Given the description of an element on the screen output the (x, y) to click on. 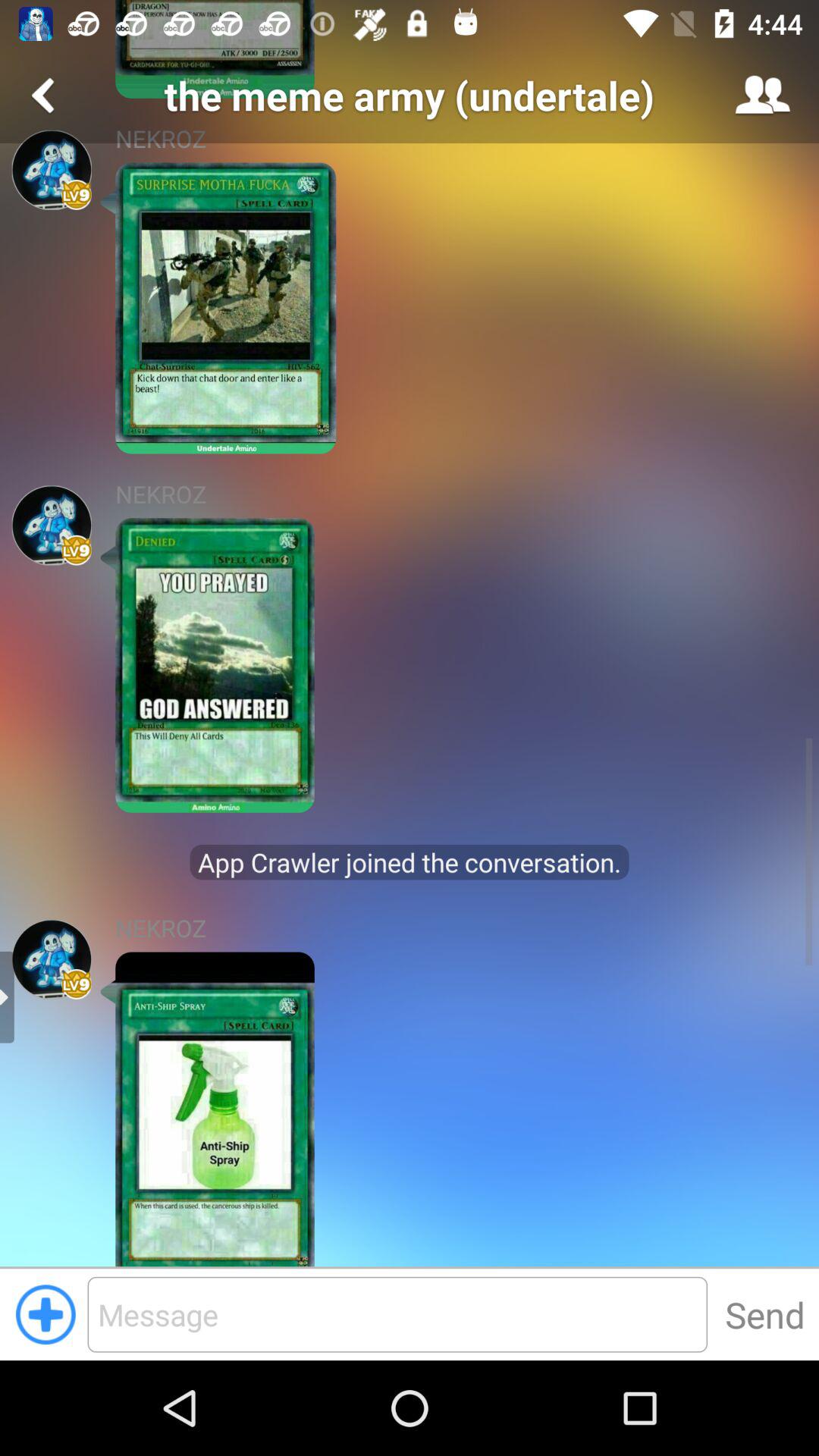
click on the icon at the top right corner (763, 95)
click on message text field at the bottom of the page (397, 1314)
